Given the description of an element on the screen output the (x, y) to click on. 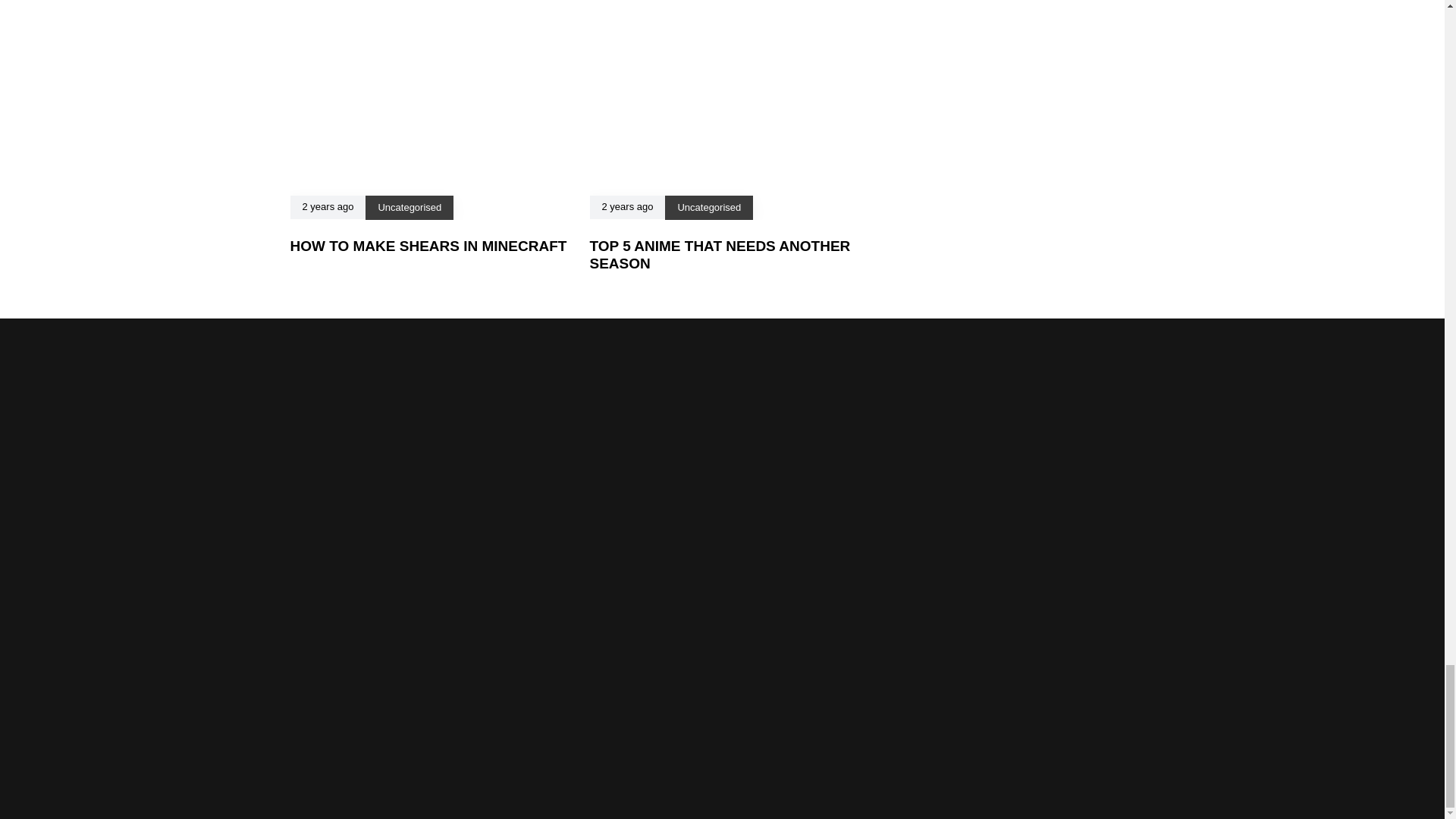
HOW TO MAKE SHEARS IN MINECRAFT (427, 245)
Uncategorised (409, 206)
Uncategorised (709, 206)
TOP 5 ANIME THAT NEEDS ANOTHER SEASON (719, 254)
